Given the description of an element on the screen output the (x, y) to click on. 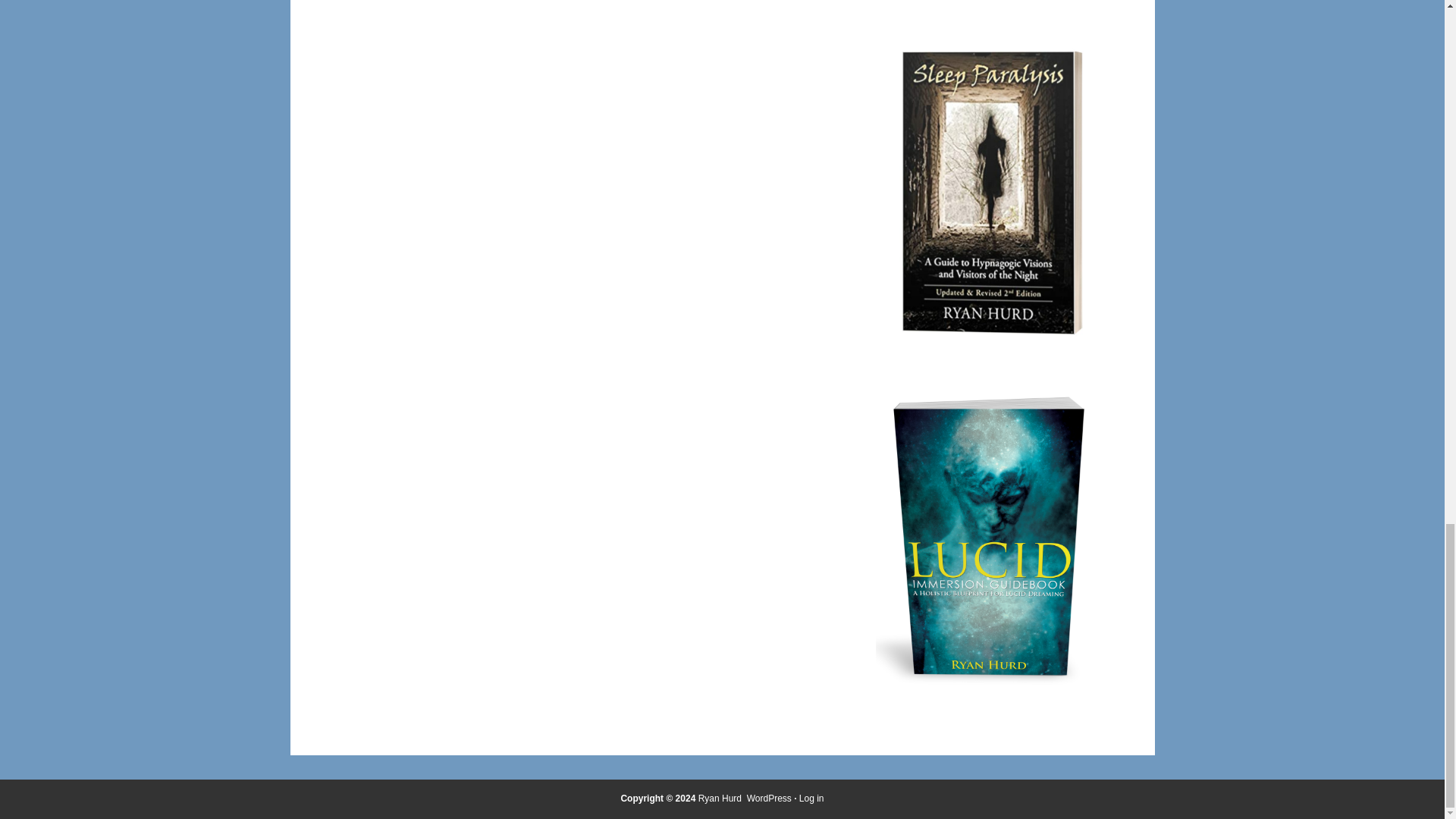
WordPress (769, 798)
Ryan Hurd  (721, 798)
Log in (811, 798)
